Given the description of an element on the screen output the (x, y) to click on. 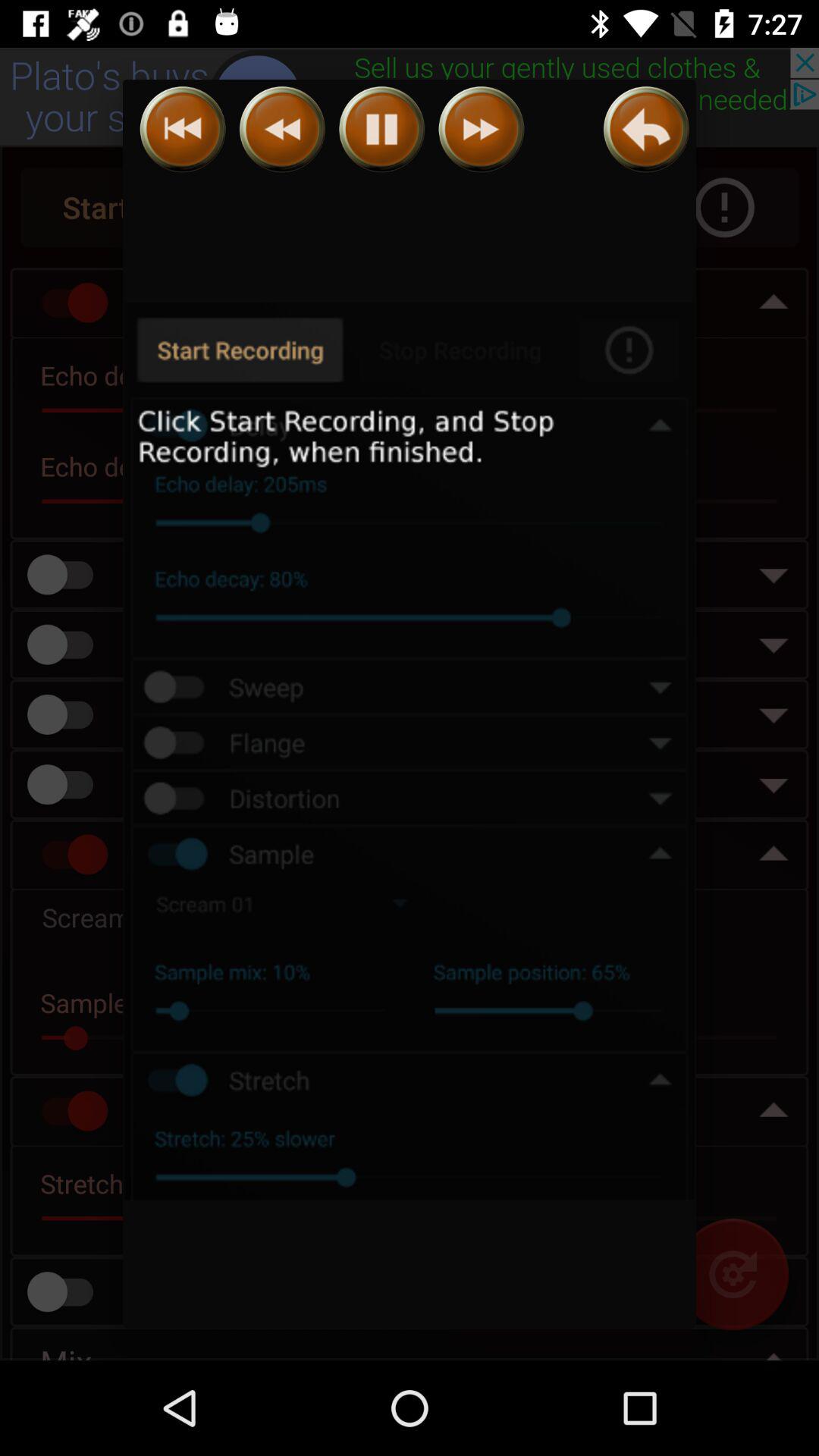
click to review recording (646, 129)
